Given the description of an element on the screen output the (x, y) to click on. 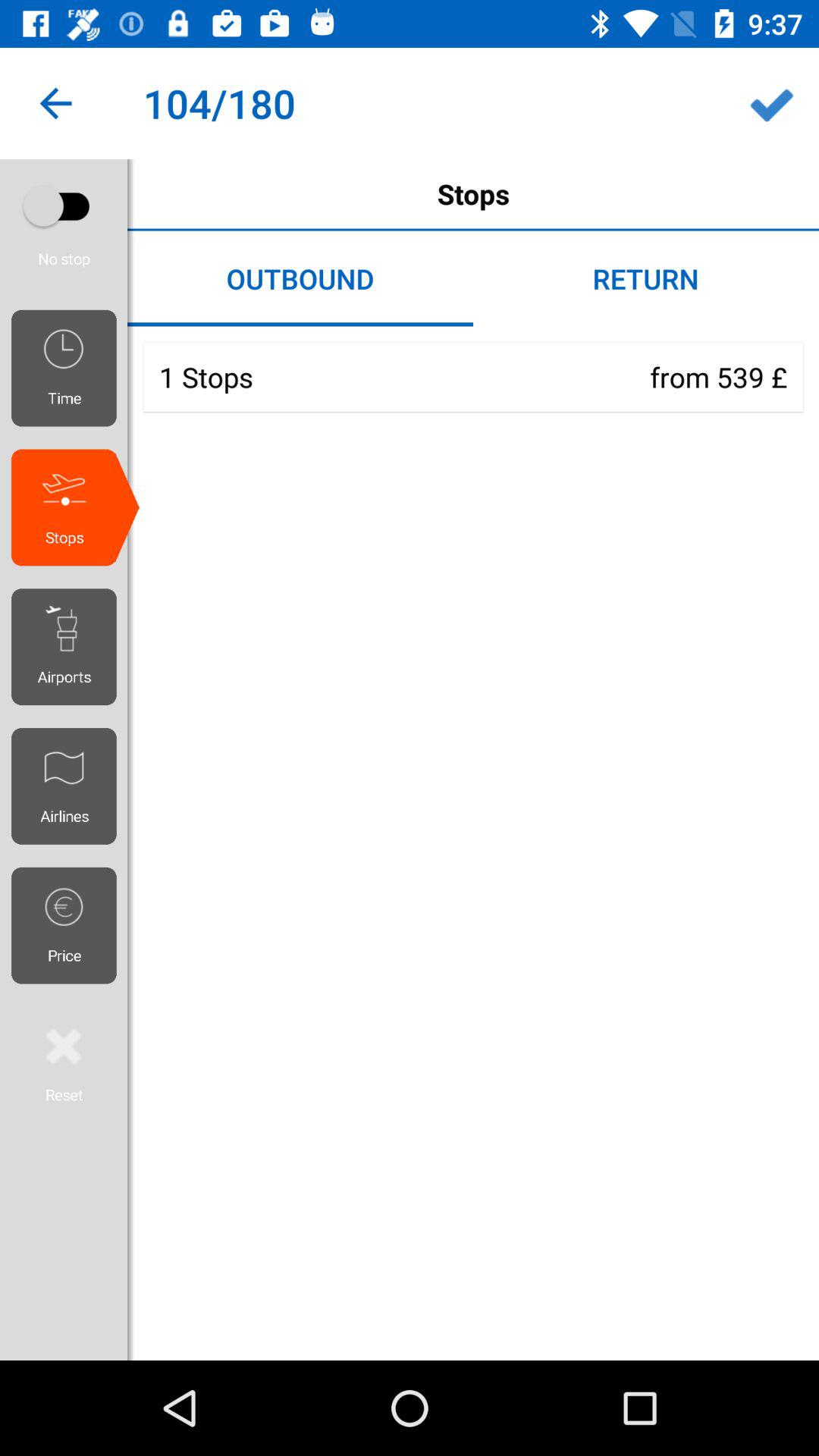
turn off the airlines icon (69, 785)
